Given the description of an element on the screen output the (x, y) to click on. 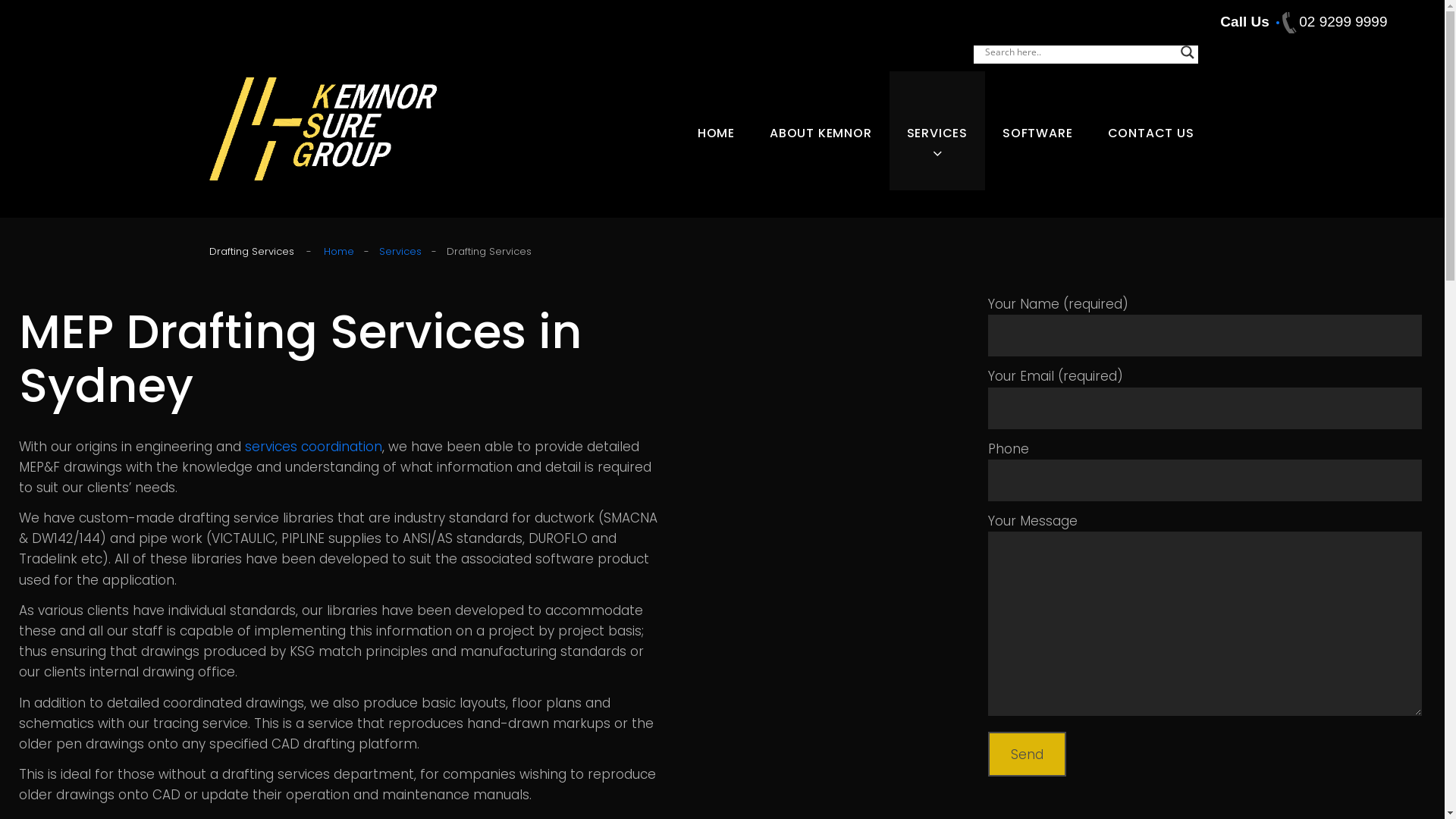
02 9299 9999 Element type: text (1331, 21)
Home Element type: text (338, 251)
services coordination Element type: text (313, 446)
Services Element type: text (400, 251)
Send Element type: text (1027, 753)
CONTACT US Element type: text (1150, 131)
HOME Element type: text (716, 131)
ABOUT KEMNOR Element type: text (820, 131)
SERVICES Element type: text (937, 131)
SOFTWARE Element type: text (1037, 131)
